Given the description of an element on the screen output the (x, y) to click on. 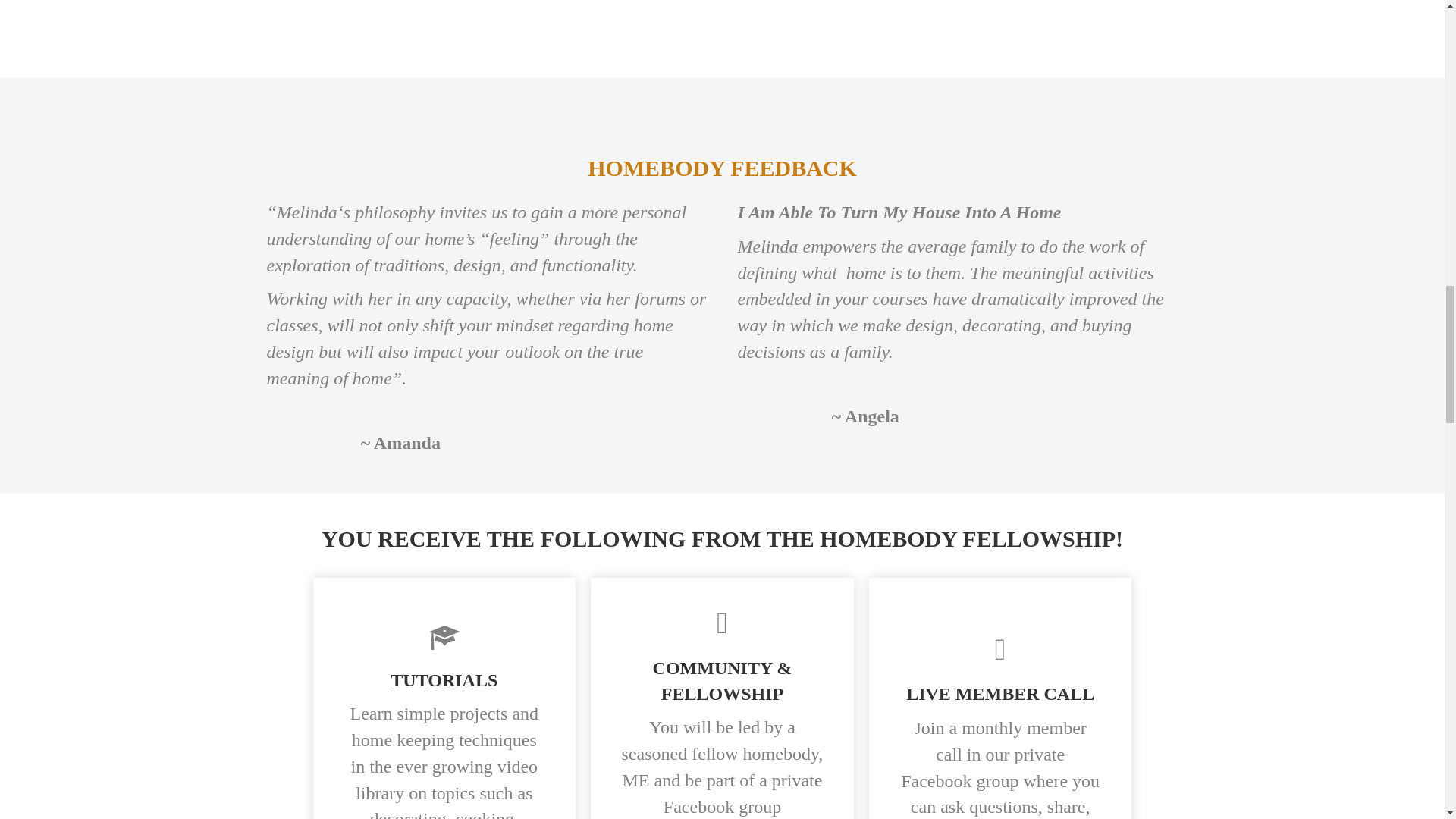
Profile icon in black resized -med (722, 121)
Sales Page Candles 50 (721, 31)
